Given the description of an element on the screen output the (x, y) to click on. 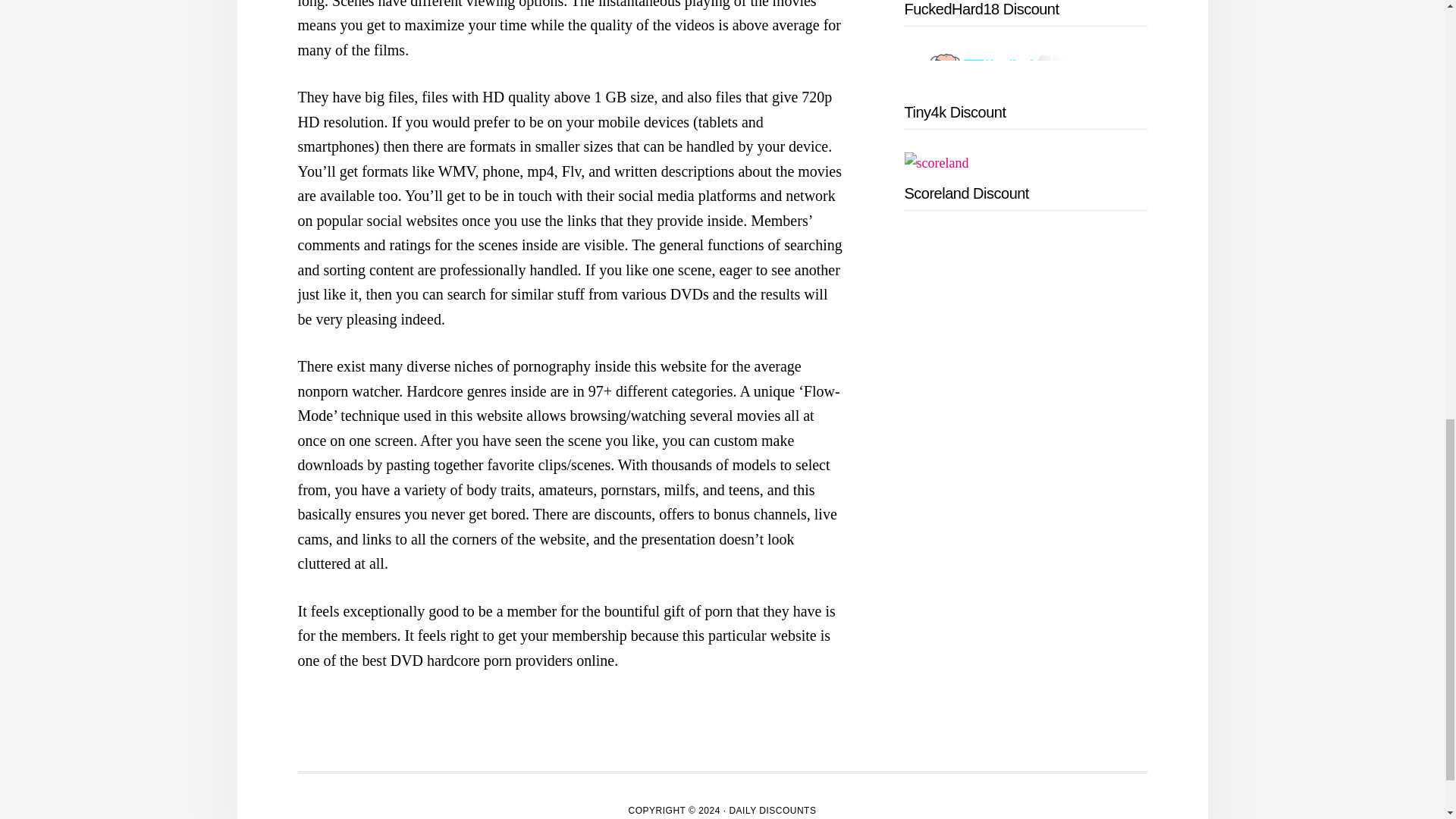
FuckedHard18 Discount (981, 8)
Scoreland Discount (965, 193)
Tiny4k Discount (955, 112)
